Given the description of an element on the screen output the (x, y) to click on. 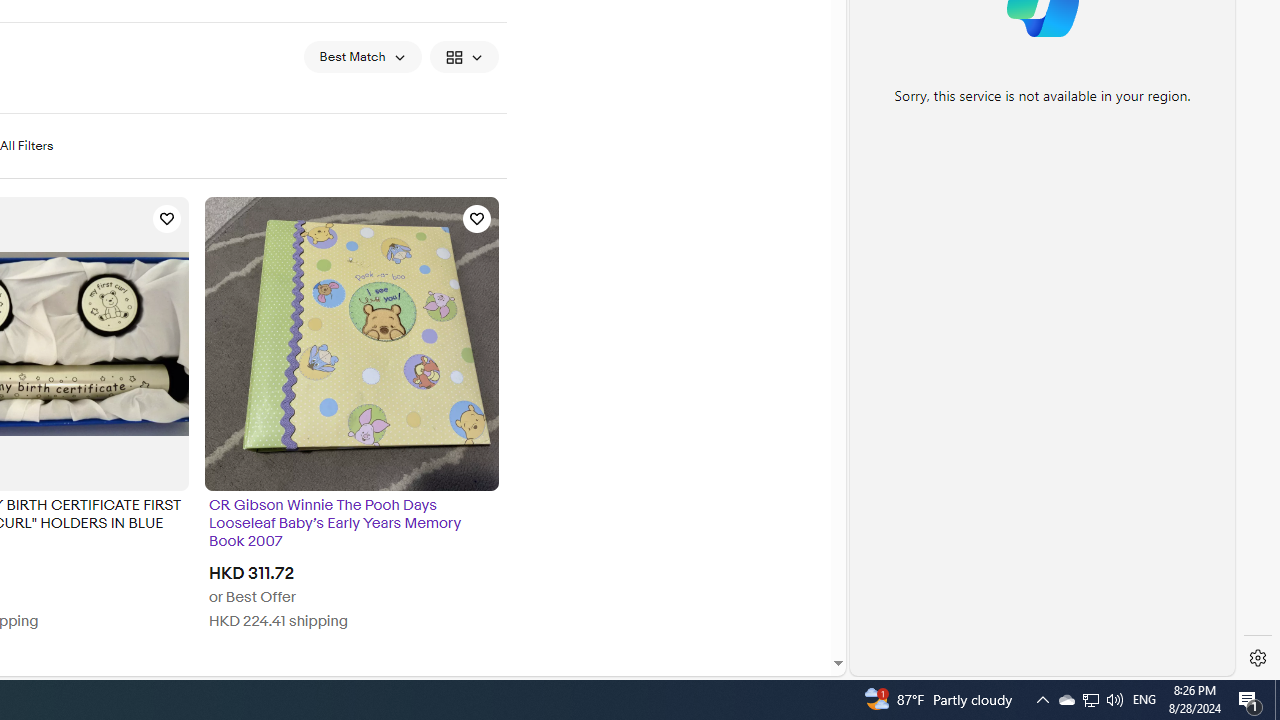
View: Gallery View (463, 56)
Settings (1258, 658)
Sort: Best Match (362, 56)
